Given the description of an element on the screen output the (x, y) to click on. 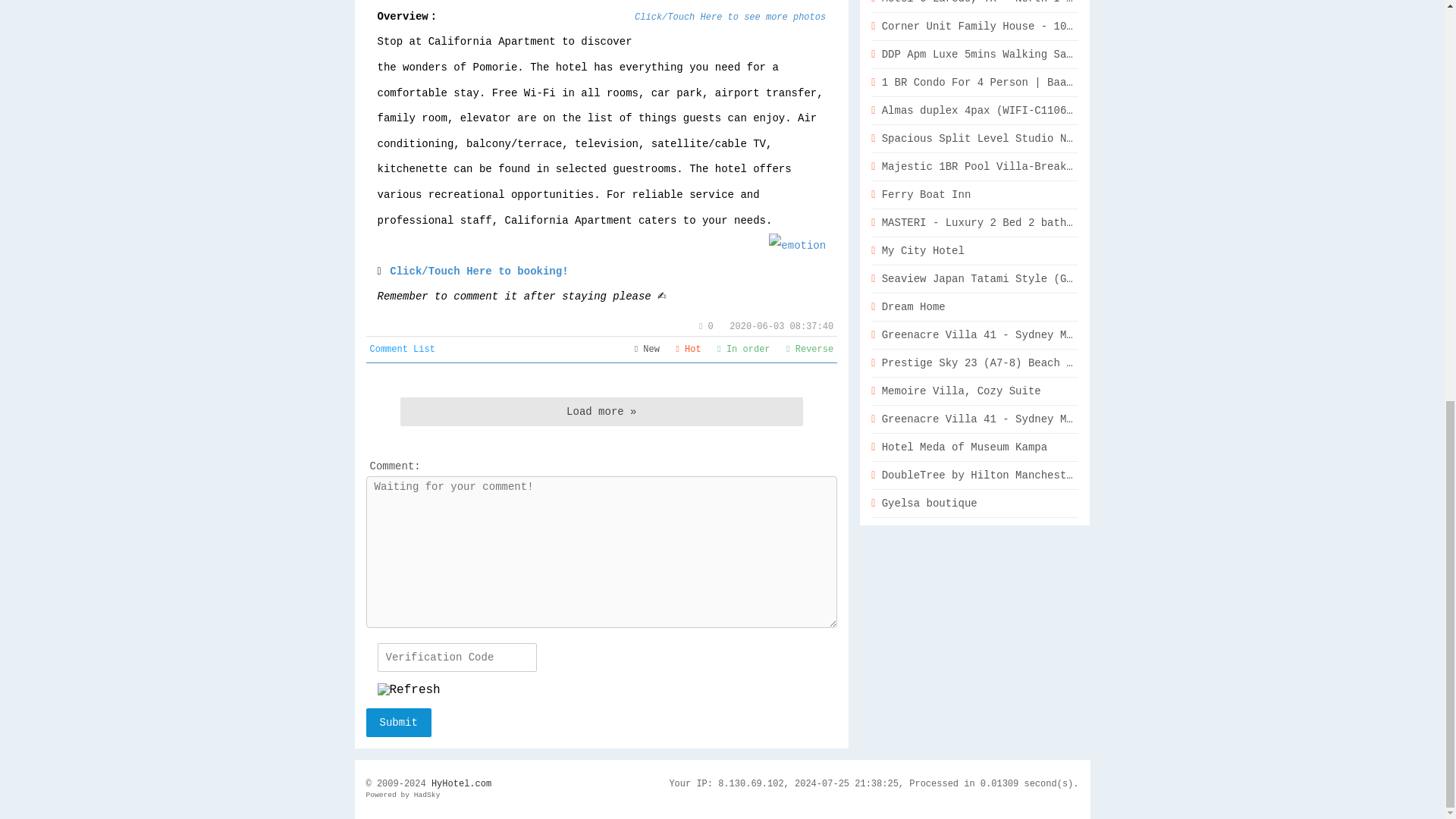
In order (743, 348)
Reverse (809, 348)
Hot (689, 348)
Submit (397, 722)
Refresh (409, 689)
New (646, 348)
 0 (705, 326)
